Given the description of an element on the screen output the (x, y) to click on. 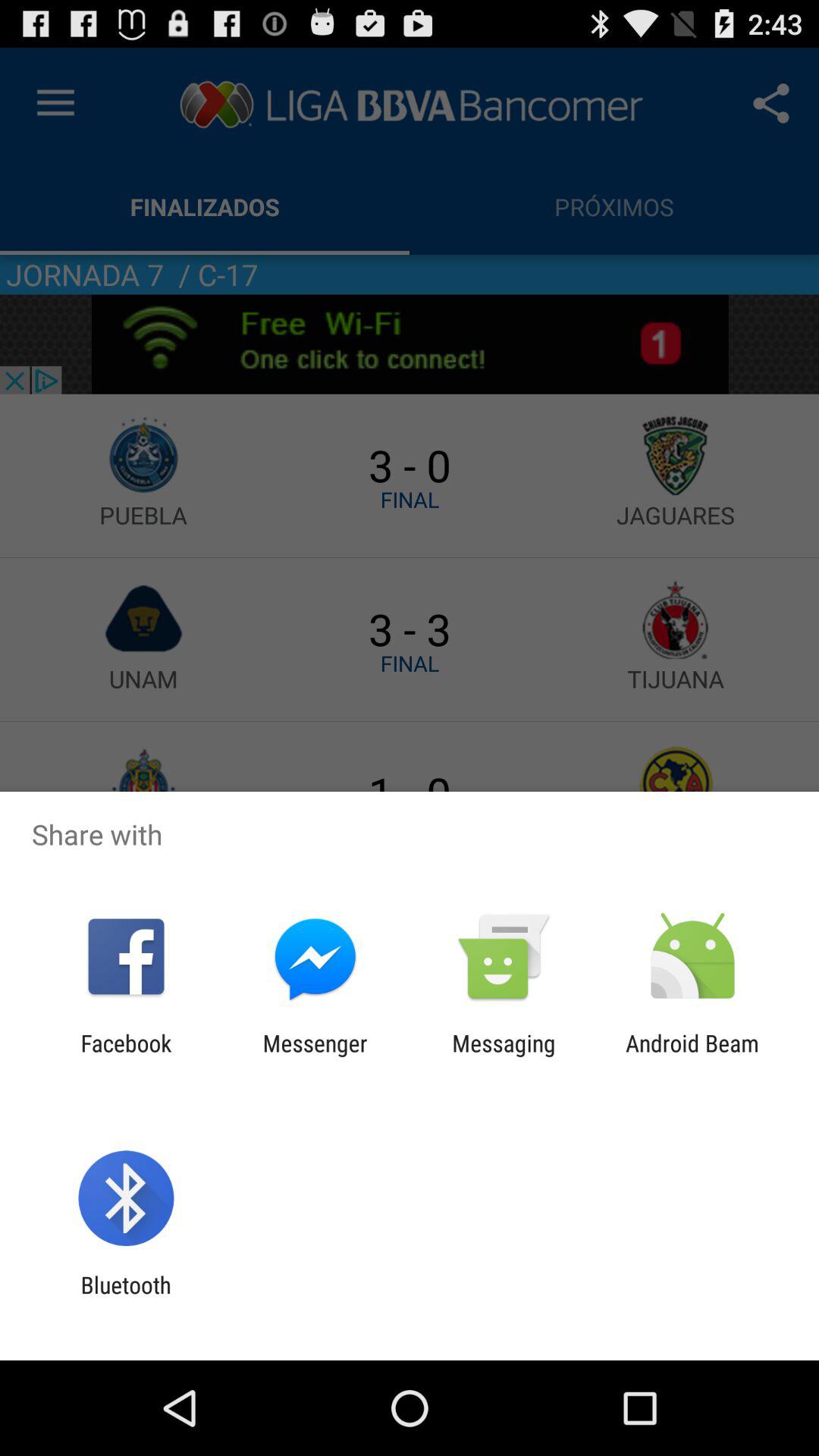
press the icon to the left of messaging (314, 1056)
